Given the description of an element on the screen output the (x, y) to click on. 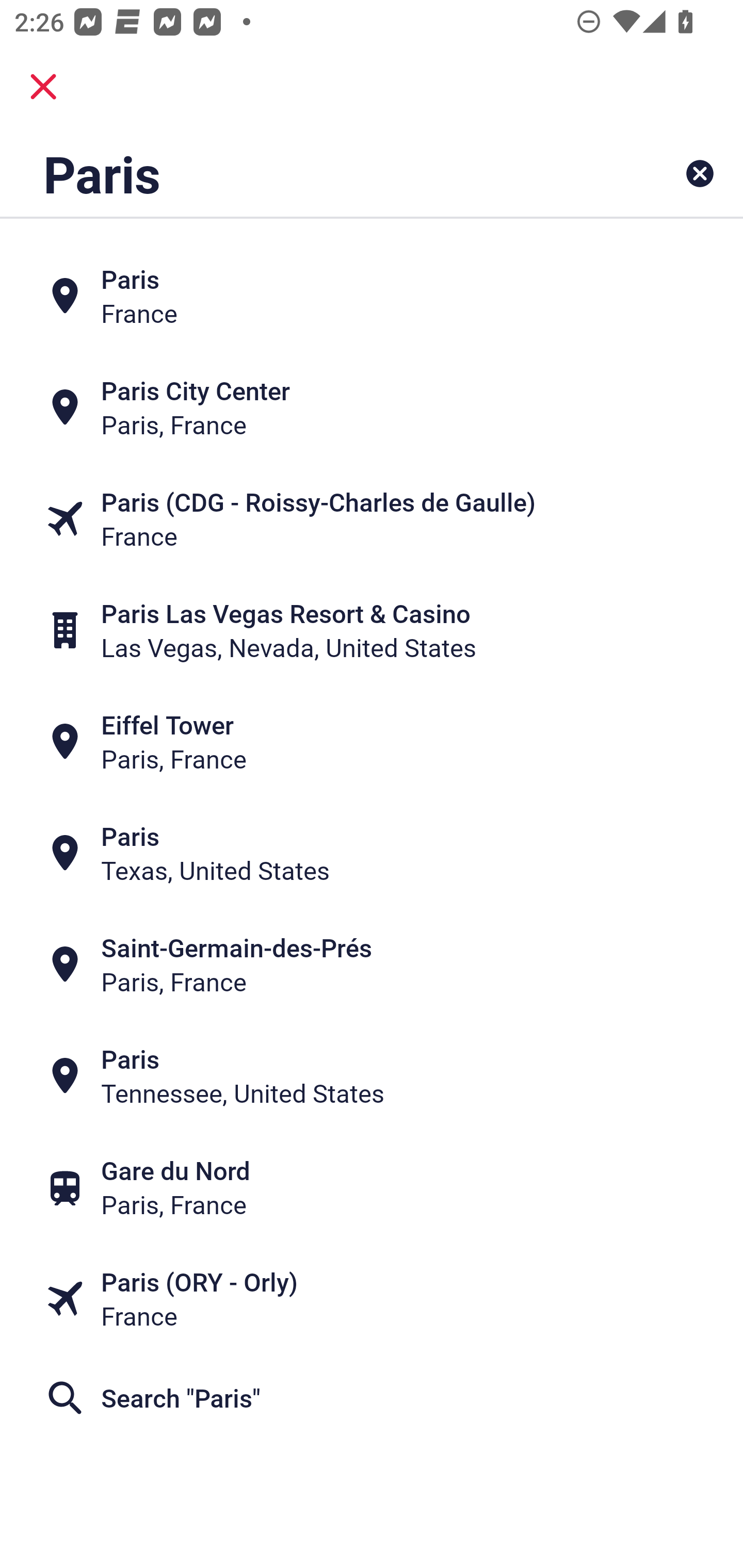
close. (43, 86)
Clear (699, 173)
Paris (306, 173)
Paris France (371, 295)
Paris City Center Paris, France (371, 406)
Paris (CDG - Roissy-Charles de Gaulle) France (371, 517)
Eiffel Tower Paris, France (371, 742)
Paris Texas, United States (371, 853)
Saint-Germain-des-Prés Paris, France (371, 964)
Paris Tennessee, United States (371, 1076)
Gare du Nord Paris, France (371, 1187)
Paris (ORY - Orly) France (371, 1298)
Search "Paris" (371, 1397)
